Given the description of an element on the screen output the (x, y) to click on. 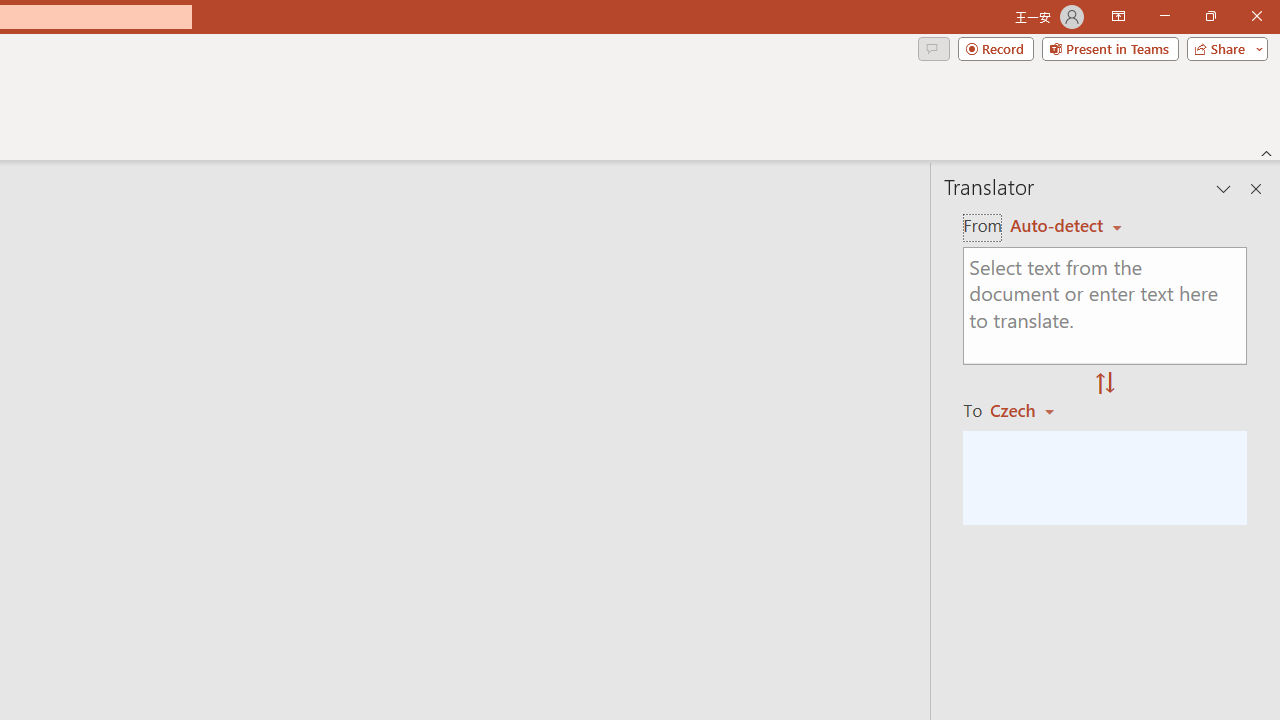
Auto-detect (1066, 225)
Czech (1030, 409)
